Given the description of an element on the screen output the (x, y) to click on. 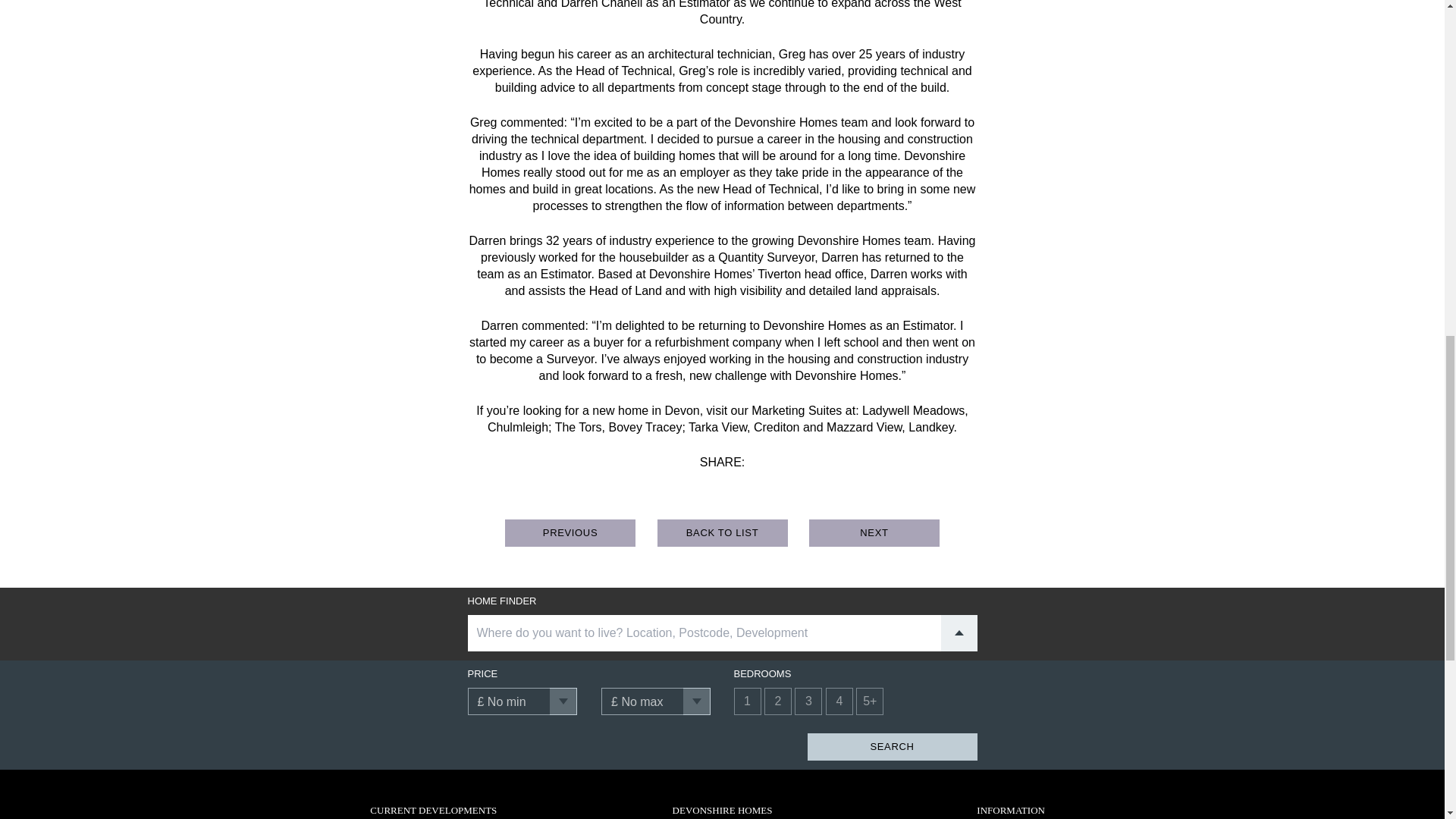
SEARCH (891, 746)
NEXT (874, 533)
BACK TO LIST (721, 533)
PREVIOUS (569, 533)
